Given the description of an element on the screen output the (x, y) to click on. 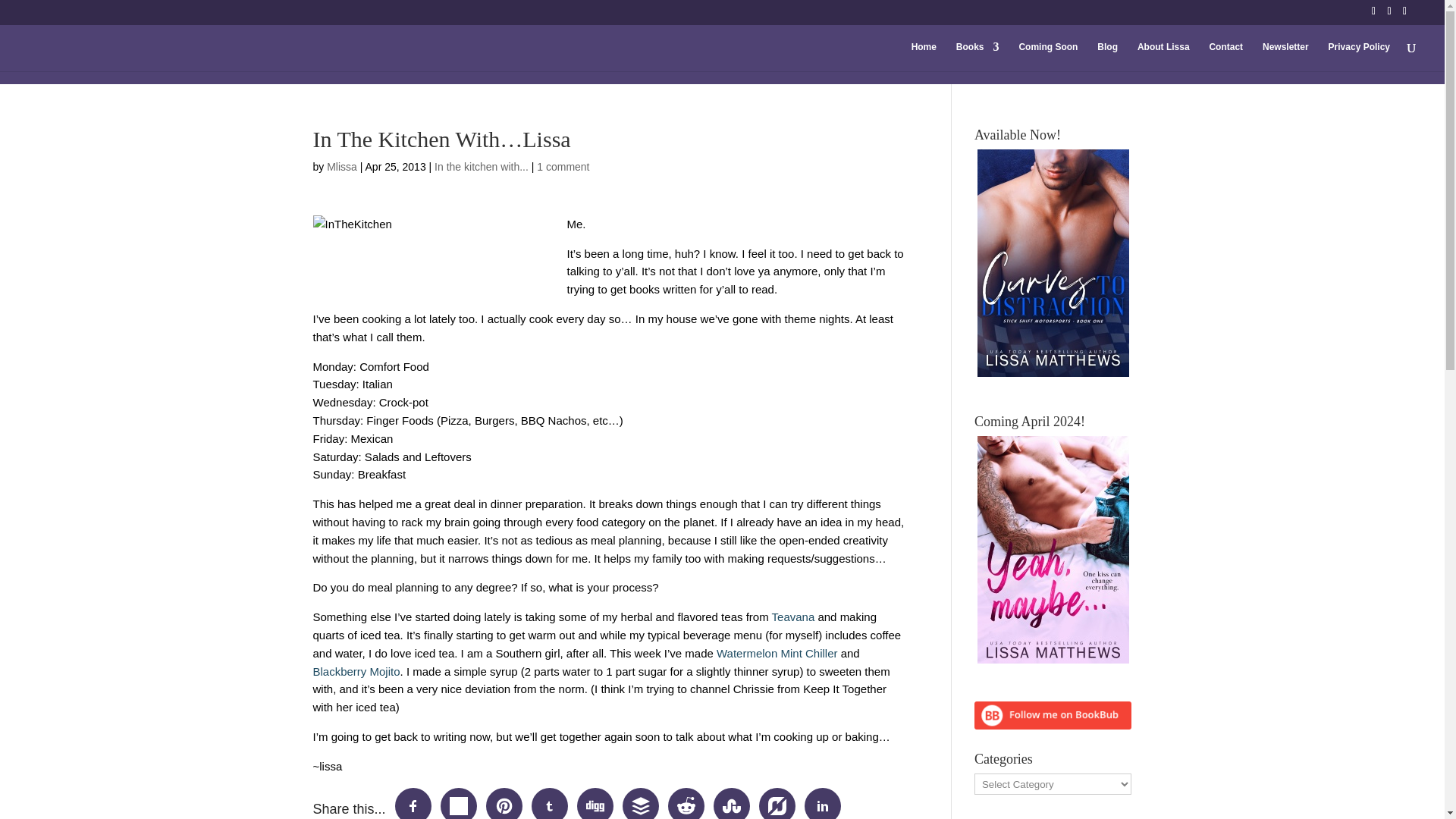
About Lissa (1163, 56)
Watermelon Mint Chiller (777, 653)
Newsletter (1285, 56)
Teavana (793, 616)
Coming Soon (1047, 56)
Books (977, 56)
1 comment (563, 166)
Contact (1225, 56)
Mlissa (341, 166)
Blackberry Mojito (355, 671)
